Given the description of an element on the screen output the (x, y) to click on. 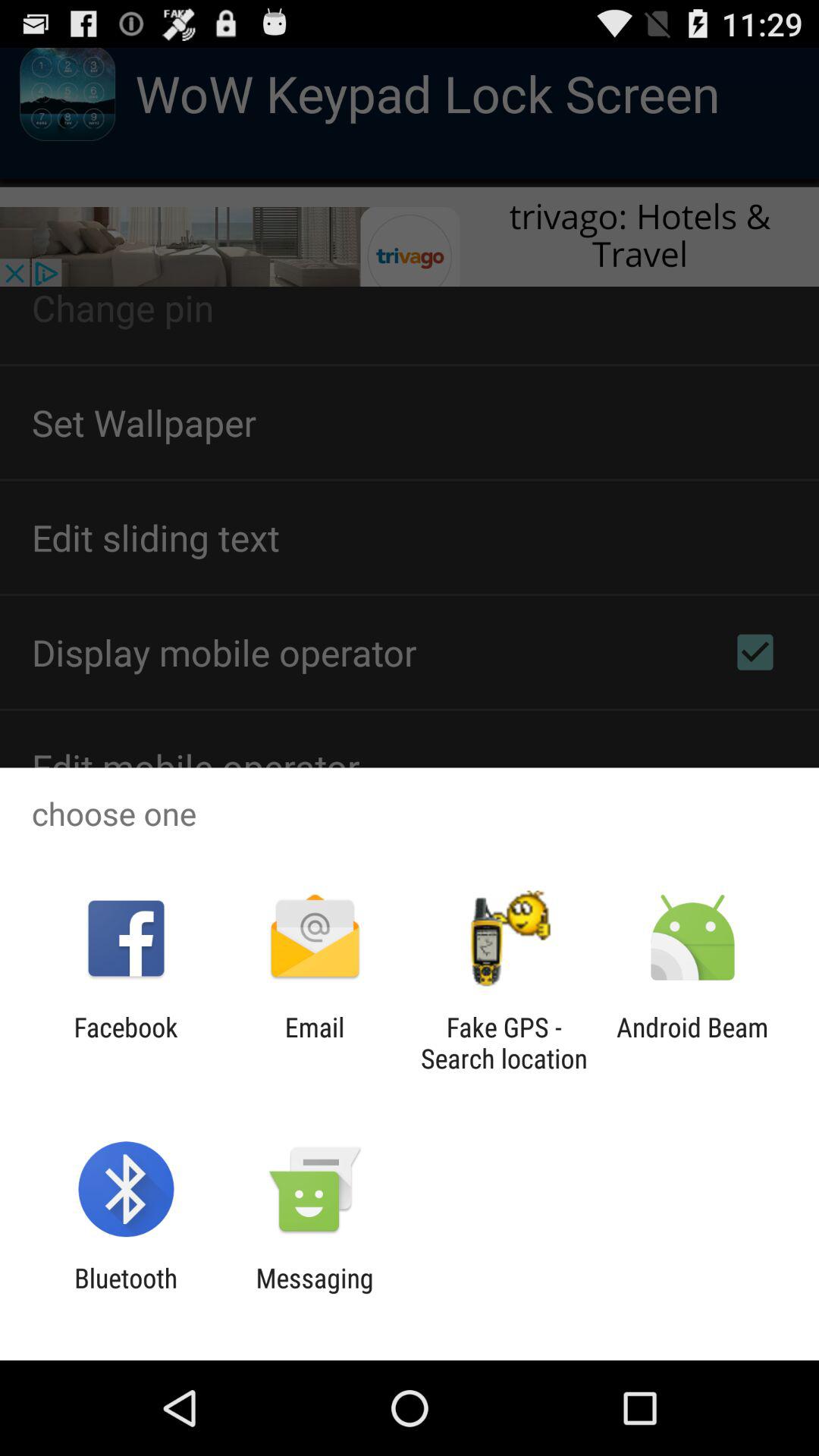
choose the app next to messaging app (125, 1293)
